Given the description of an element on the screen output the (x, y) to click on. 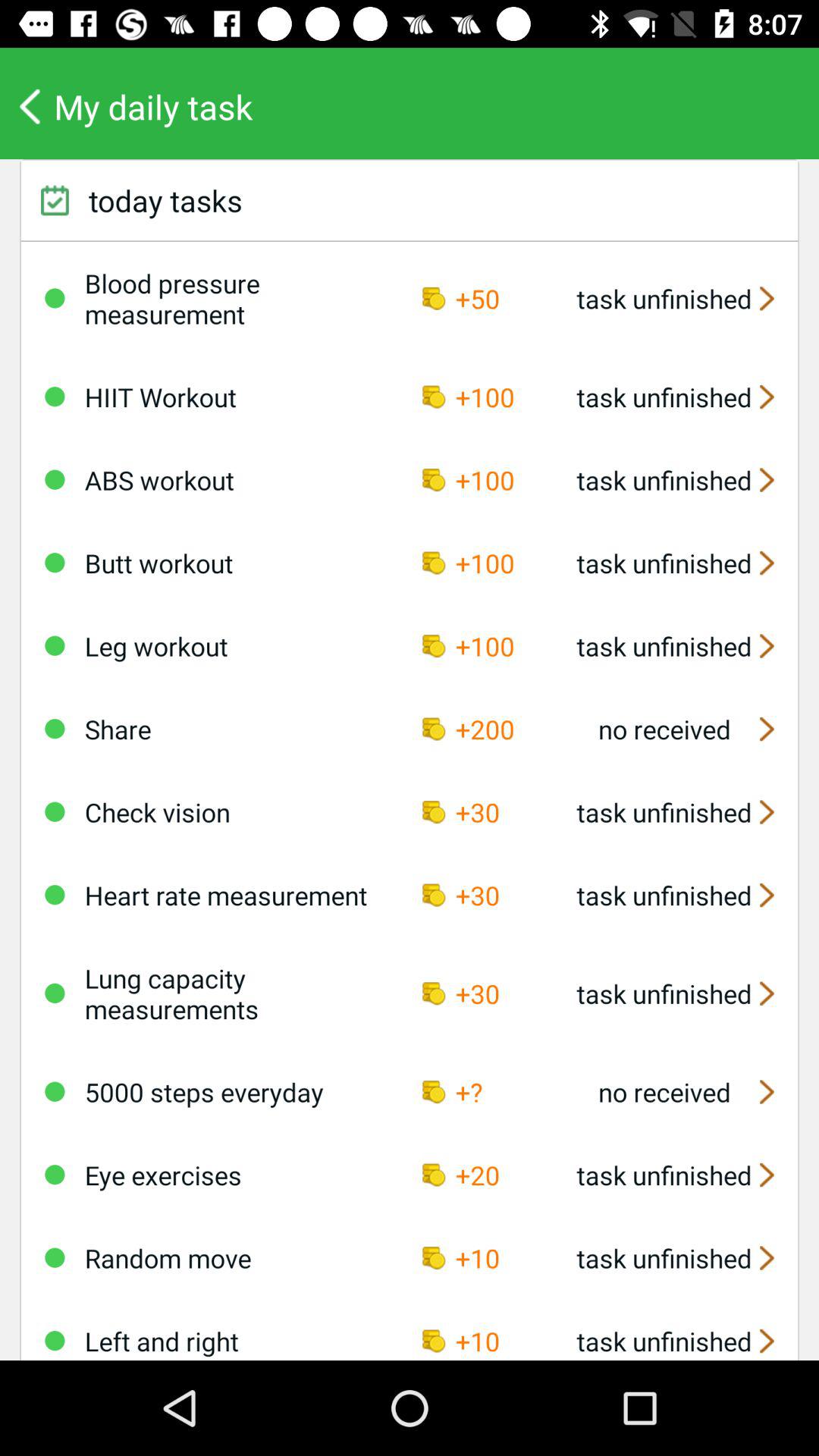
check vision on a daily task (54, 811)
